Given the description of an element on the screen output the (x, y) to click on. 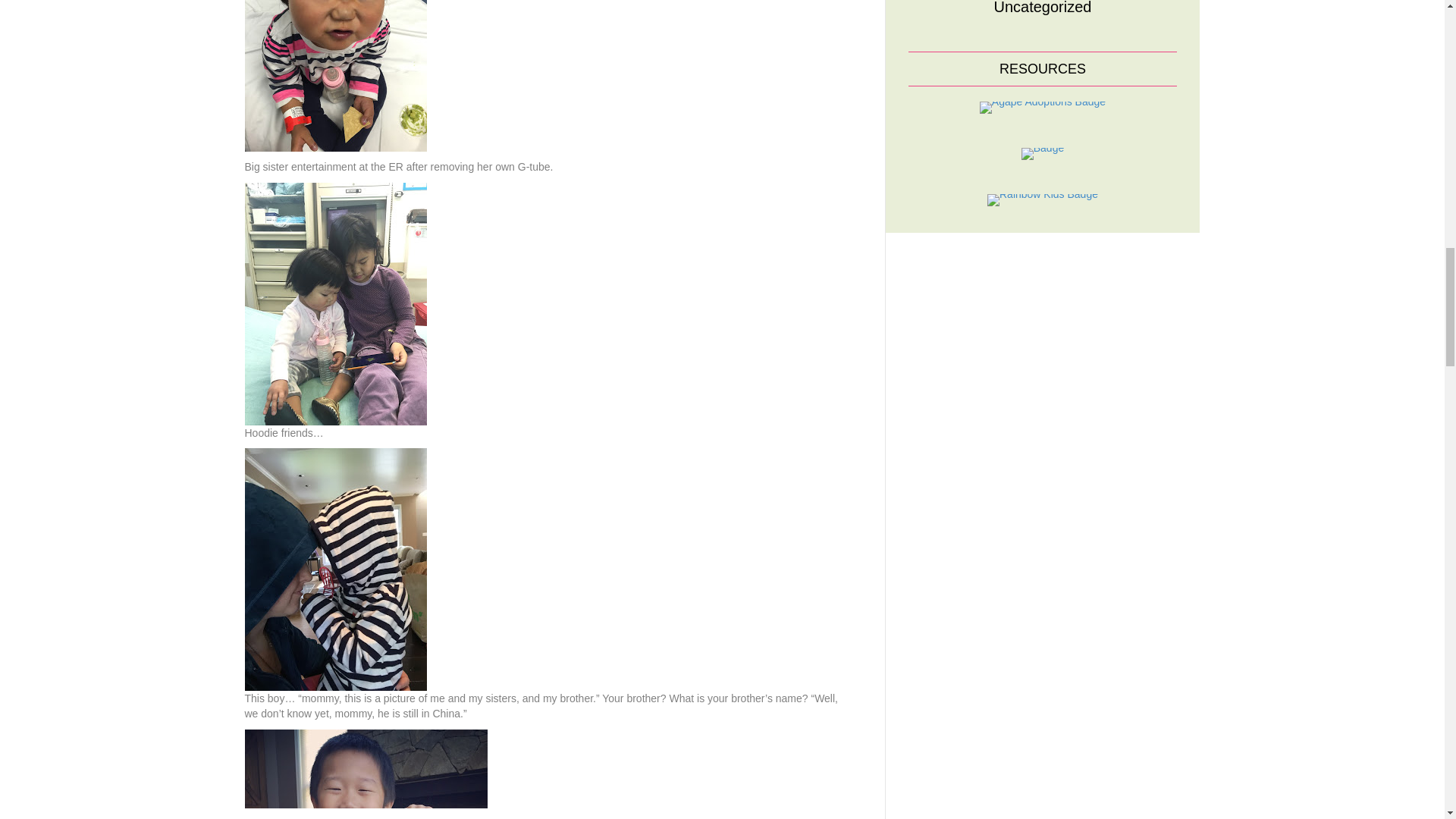
RainbowKidsBadge (1042, 199)
AgapeAdoptionsBadge (1042, 106)
Badge (1043, 152)
